Given the description of an element on the screen output the (x, y) to click on. 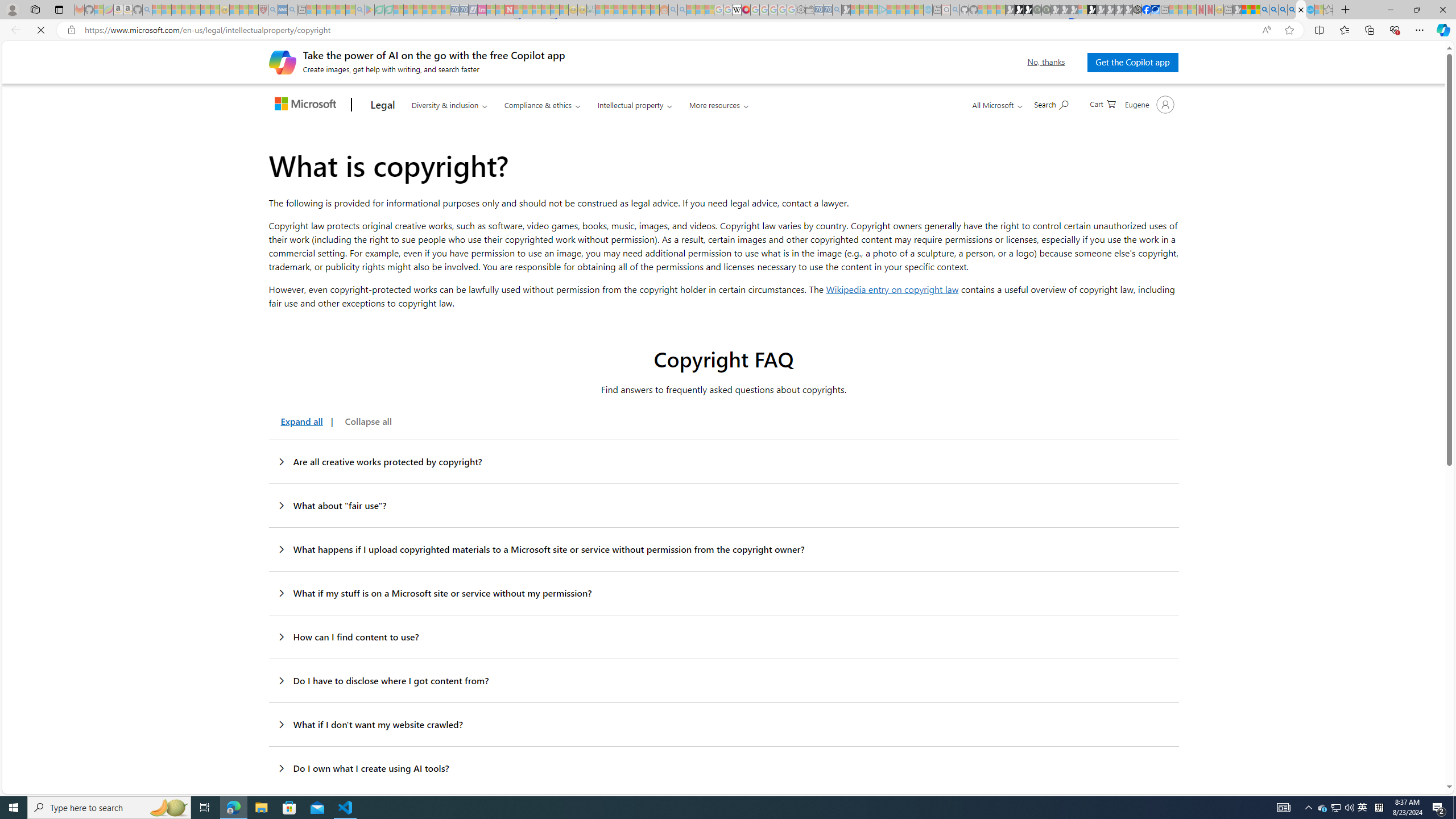
What if I don't want my website crawled? (723, 724)
What about "fair use"? (723, 505)
No, thanks (1045, 62)
Terms of Use Agreement - Sleeping (378, 9)
